Given the description of an element on the screen output the (x, y) to click on. 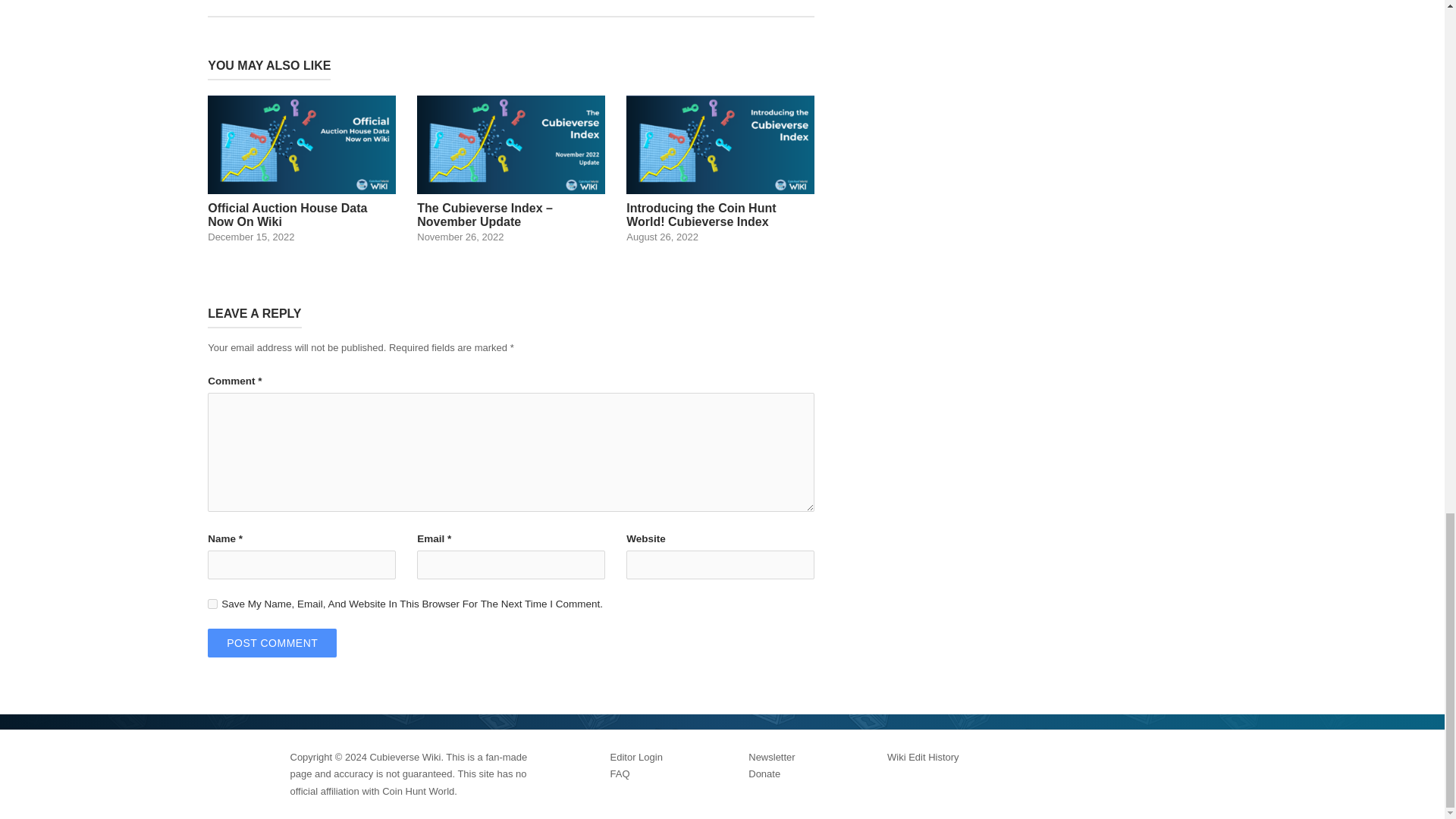
Introducing the Coin Hunt World! Cubieverse Index (719, 168)
Post Comment (272, 642)
yes (212, 603)
Official Auction House Data Now On Wiki (302, 168)
